Given the description of an element on the screen output the (x, y) to click on. 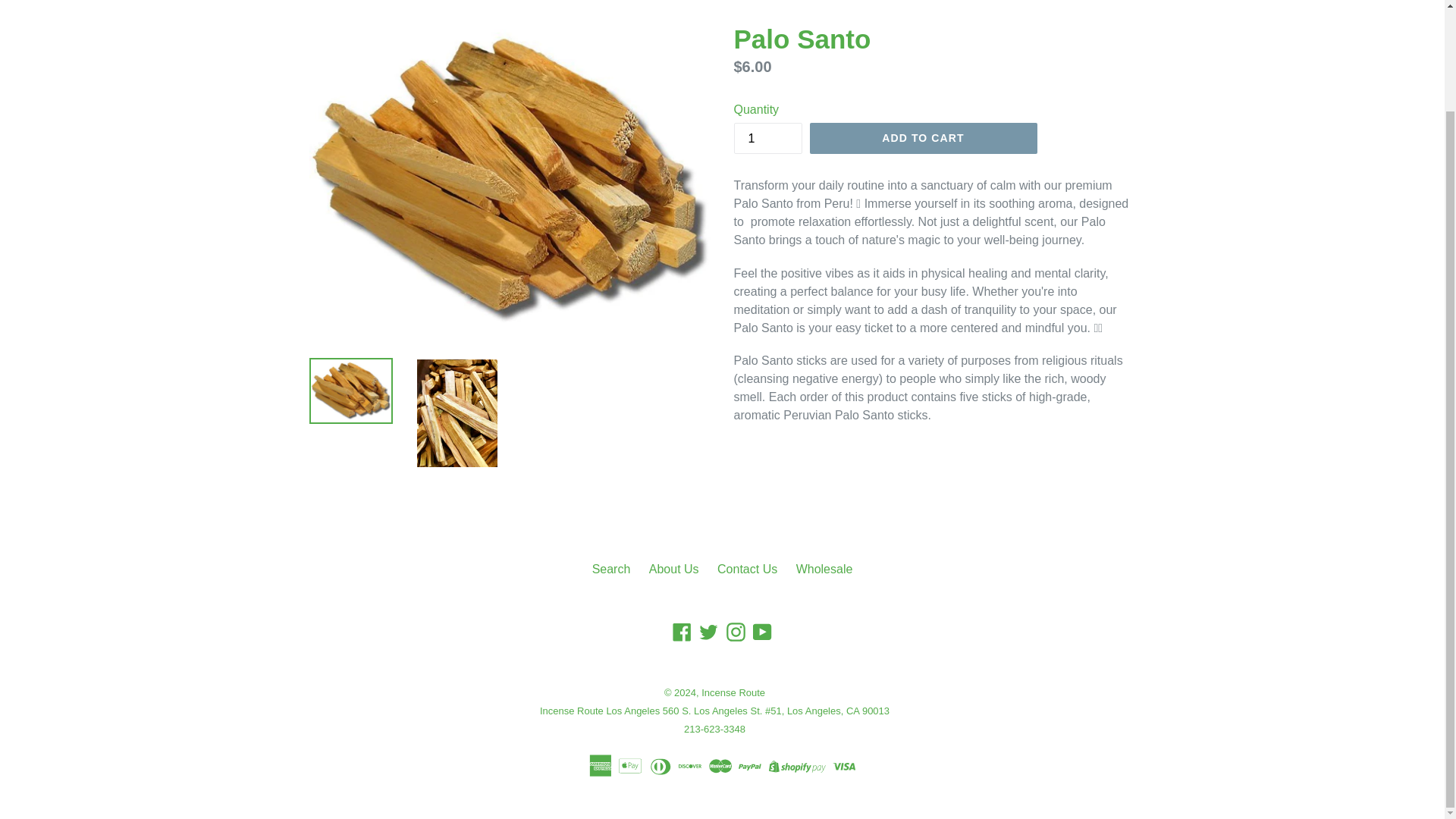
YouTube (762, 631)
Incense Route on Instagram (735, 631)
1 (767, 137)
Instagram (735, 631)
Contact Us (747, 568)
Search (611, 568)
Incense Route on YouTube (762, 631)
Twitter (708, 631)
Wholesale (824, 568)
About Us (673, 568)
Incense Route on Twitter (708, 631)
ADD TO CART (922, 138)
Facebook (681, 631)
Incense Route on Facebook (681, 631)
